Given the description of an element on the screen output the (x, y) to click on. 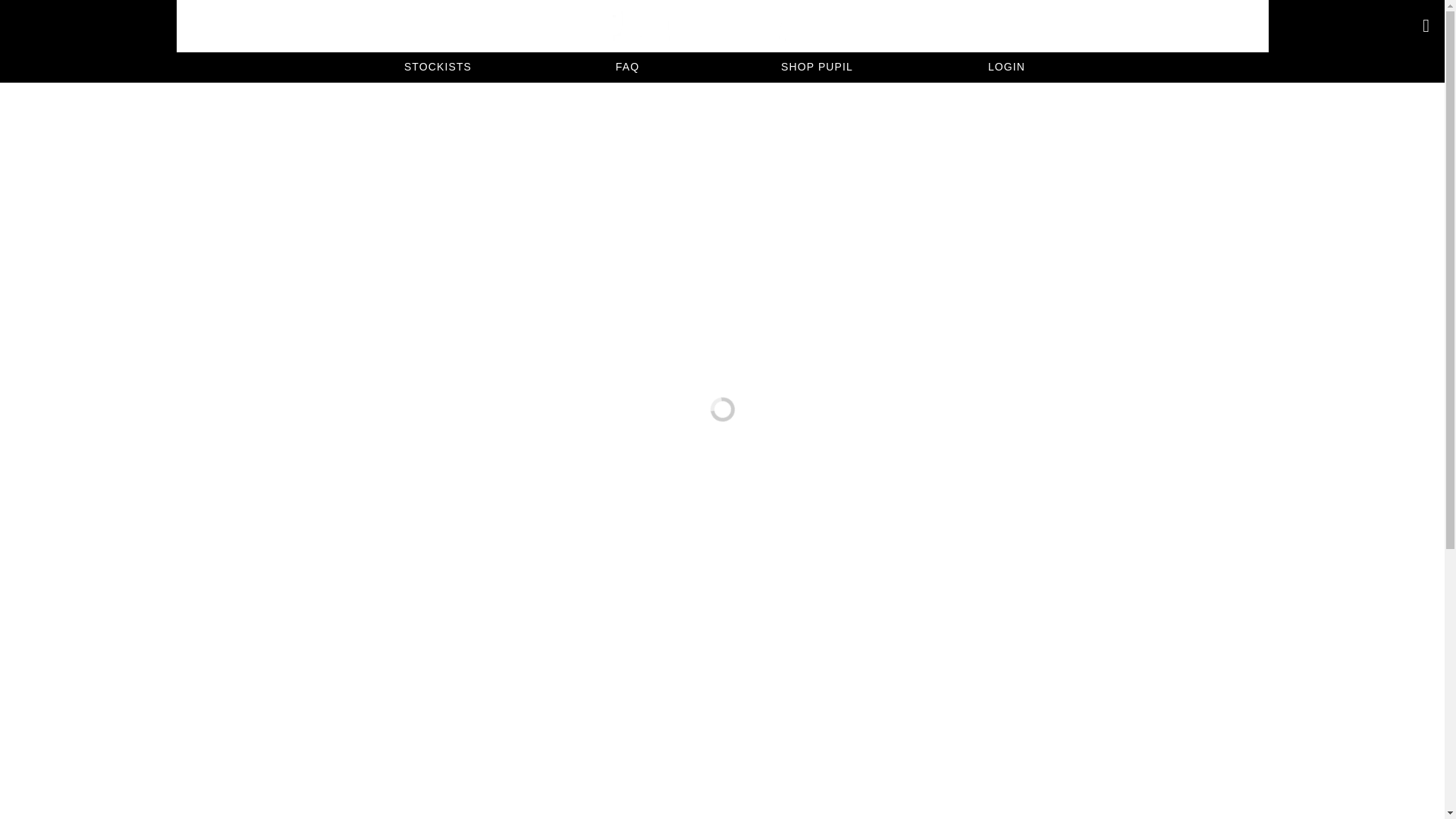
FAQ (627, 67)
LOGIN (1005, 67)
STOCKISTS (437, 67)
SHOP PUPIL (816, 67)
